Given the description of an element on the screen output the (x, y) to click on. 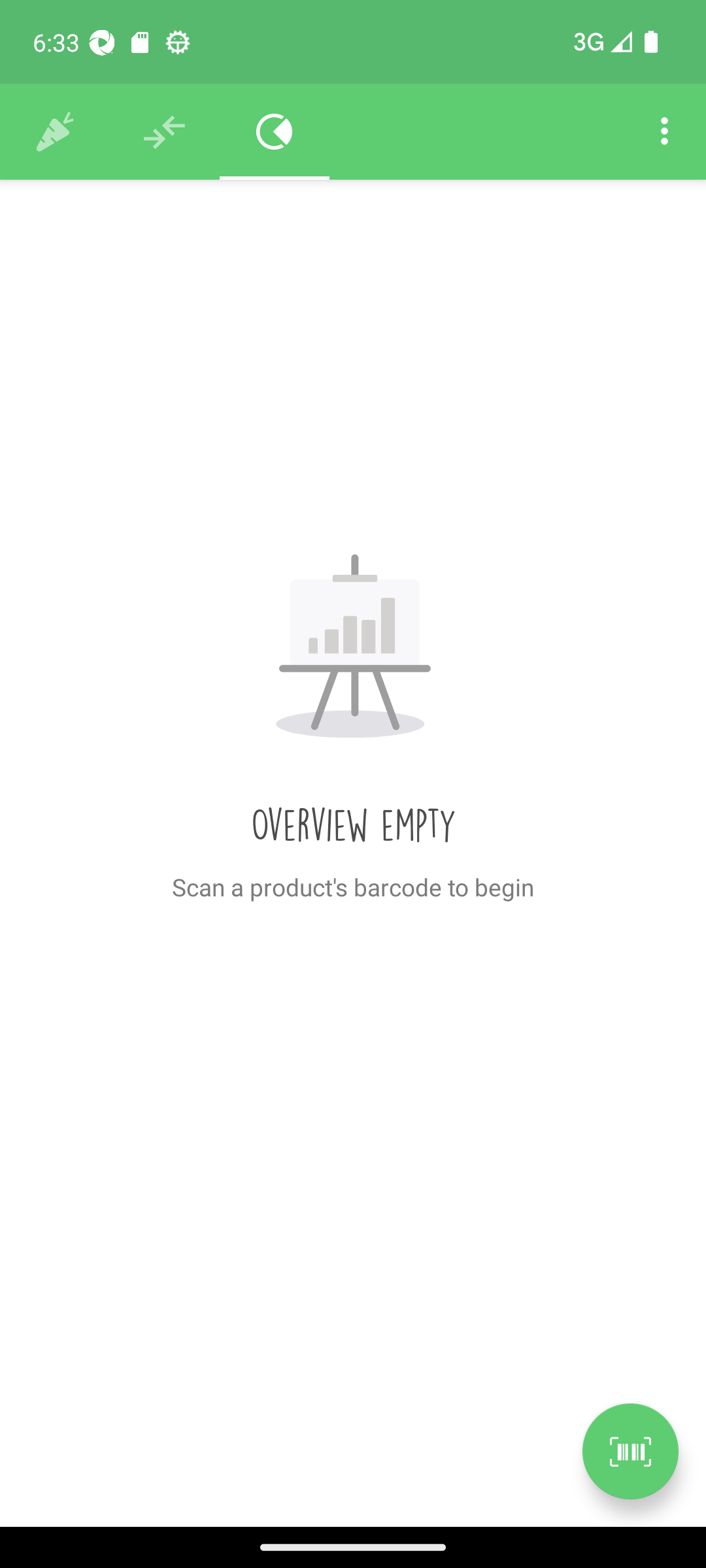
History (55, 131)
Recommendations (164, 131)
Settings (664, 131)
Scan a product (630, 1451)
